Given the description of an element on the screen output the (x, y) to click on. 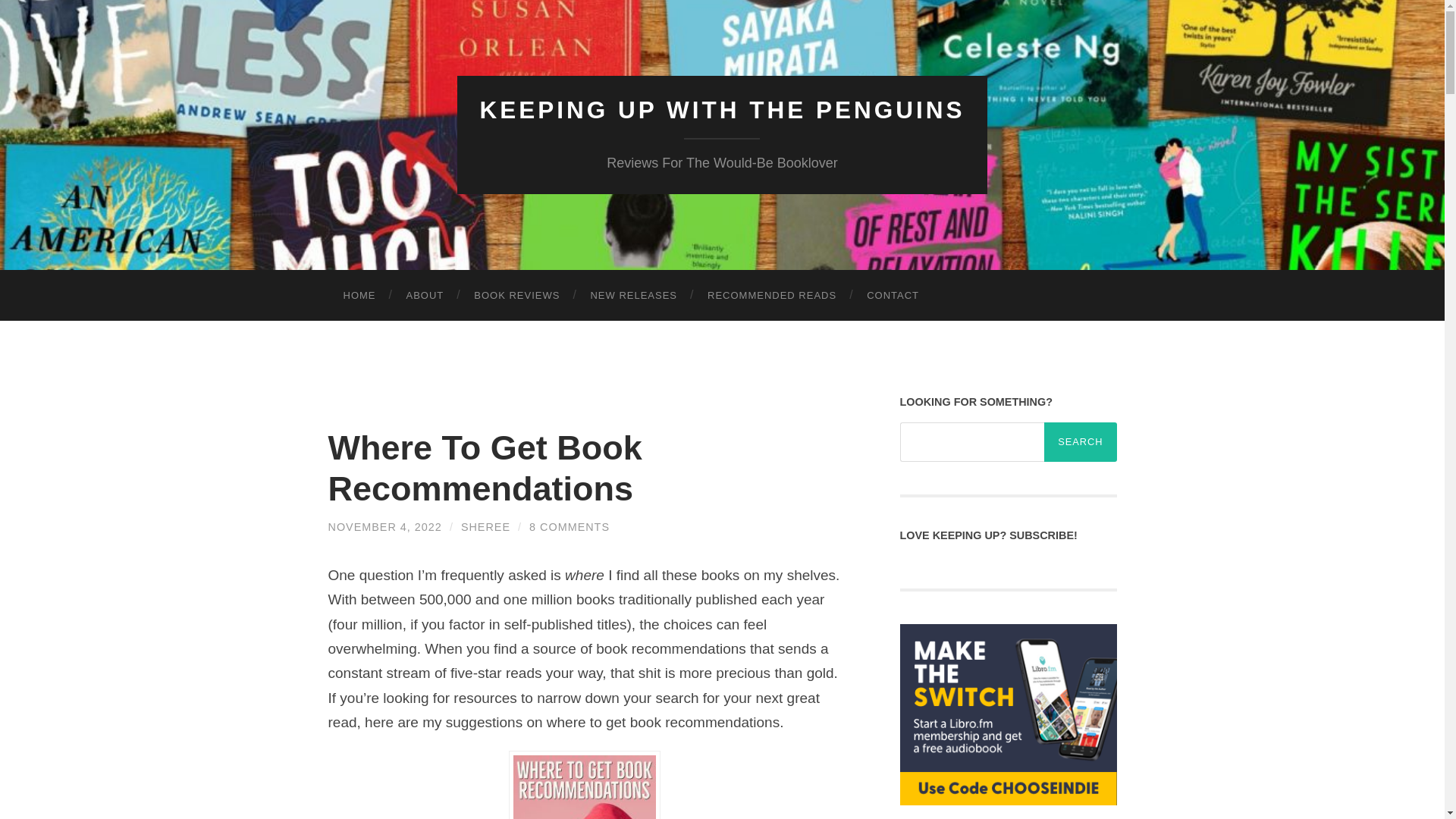
HOME (358, 295)
CONTACT (892, 295)
SHEREE (486, 526)
KEEPING UP WITH THE PENGUINS (721, 109)
ABOUT (425, 295)
Where To Get Book Recommendations (484, 467)
NOVEMBER 4, 2022 (384, 526)
Search (1079, 441)
BOOK REVIEWS (516, 295)
Posts by Sheree (486, 526)
NEW RELEASES (634, 295)
RECOMMENDED READS (772, 295)
8 COMMENTS (569, 526)
